Given the description of an element on the screen output the (x, y) to click on. 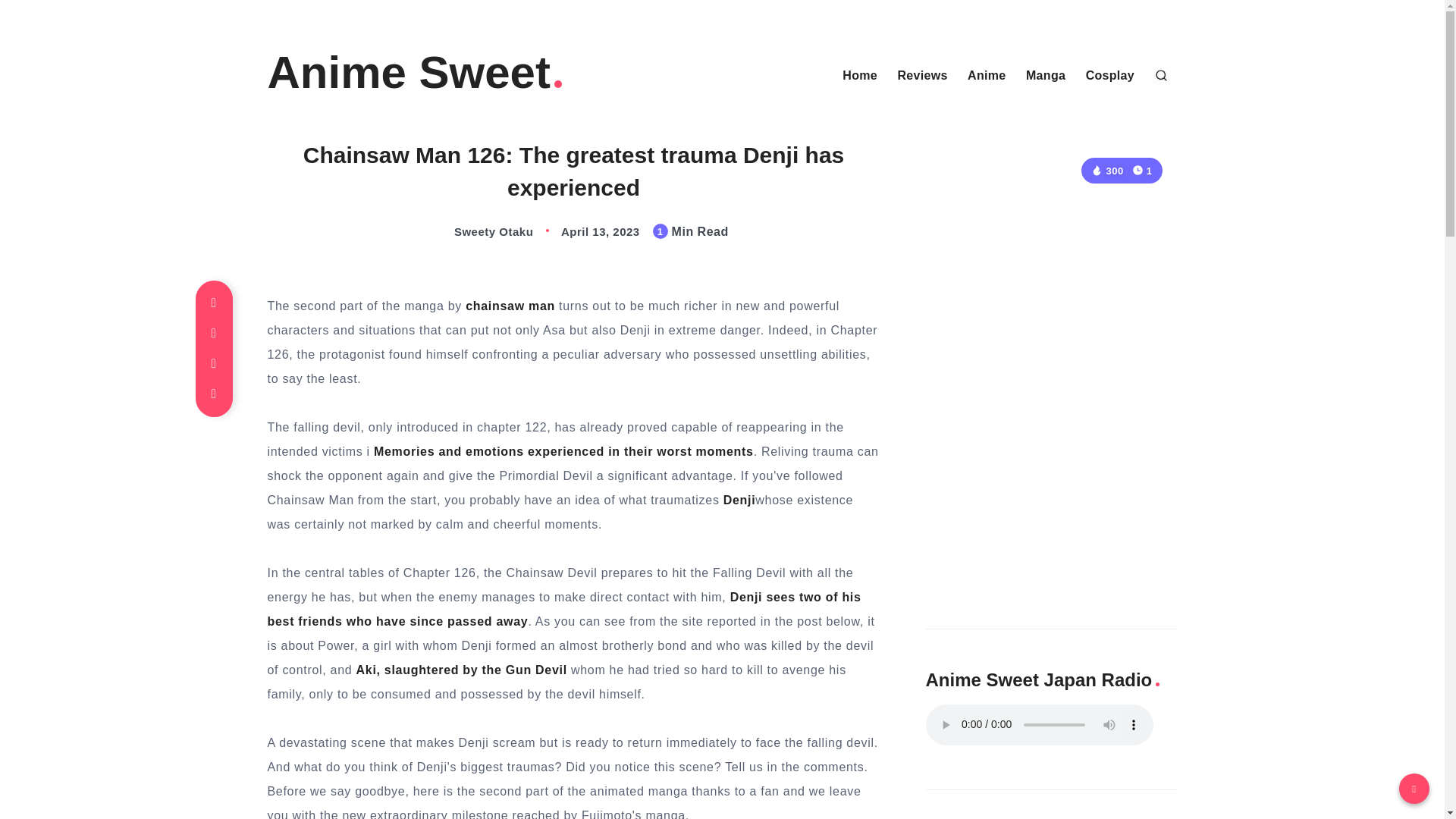
Home (860, 75)
Reviews (921, 75)
1 Min Read (1142, 170)
Anime Sweet (415, 72)
300 Views (1106, 170)
Cosplay (1110, 75)
Author: Sweety Otaku (478, 231)
Anime (987, 75)
Manga (1045, 75)
Sweety Otaku (478, 231)
